Given the description of an element on the screen output the (x, y) to click on. 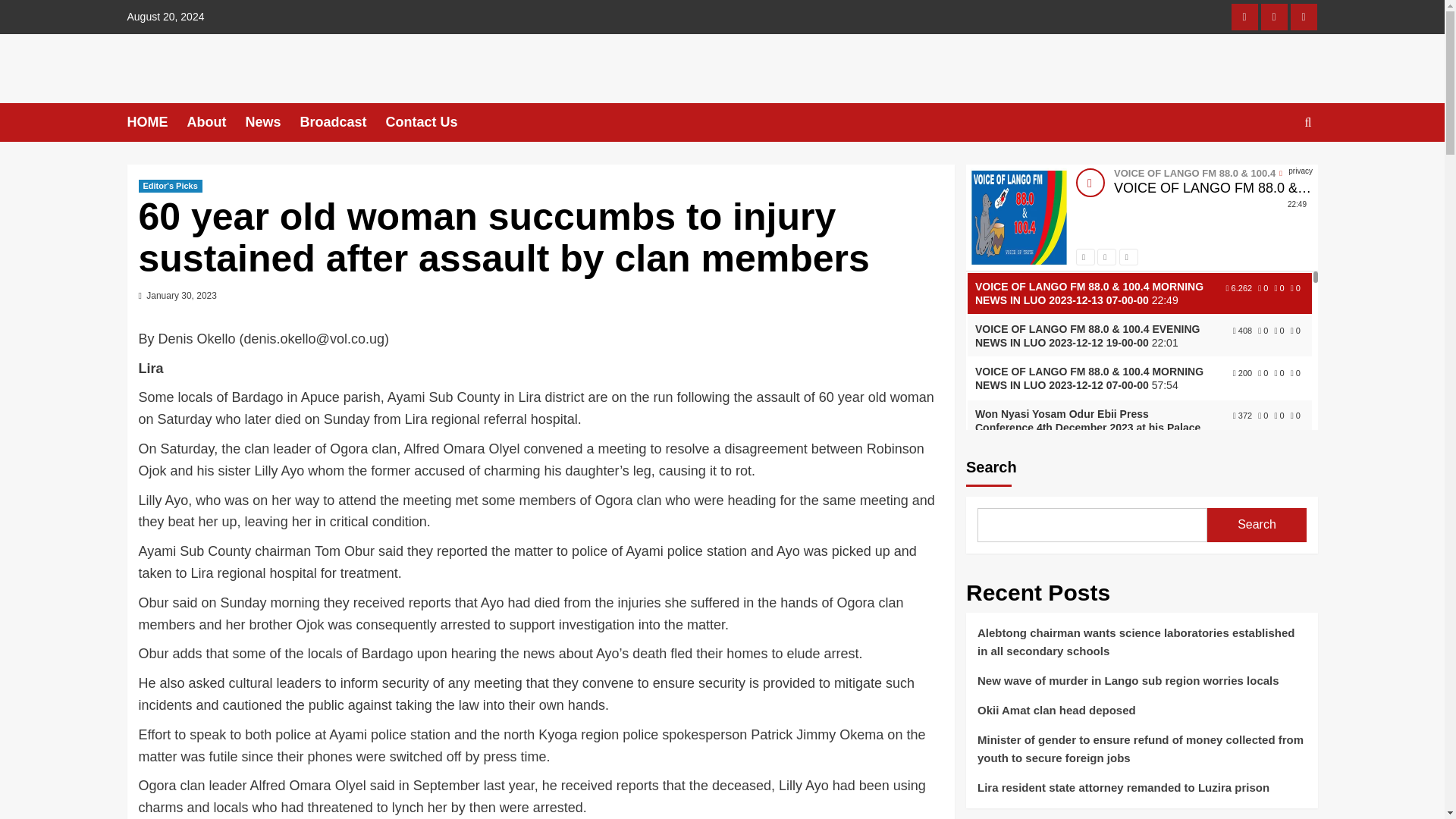
Search (1272, 168)
News (271, 122)
About (215, 122)
Editor's Picks (170, 185)
January 30, 2023 (181, 295)
HOME (157, 122)
Twitter (1273, 17)
Contact Us (431, 122)
Facebook (1244, 17)
Broadcast (342, 122)
